Given the description of an element on the screen output the (x, y) to click on. 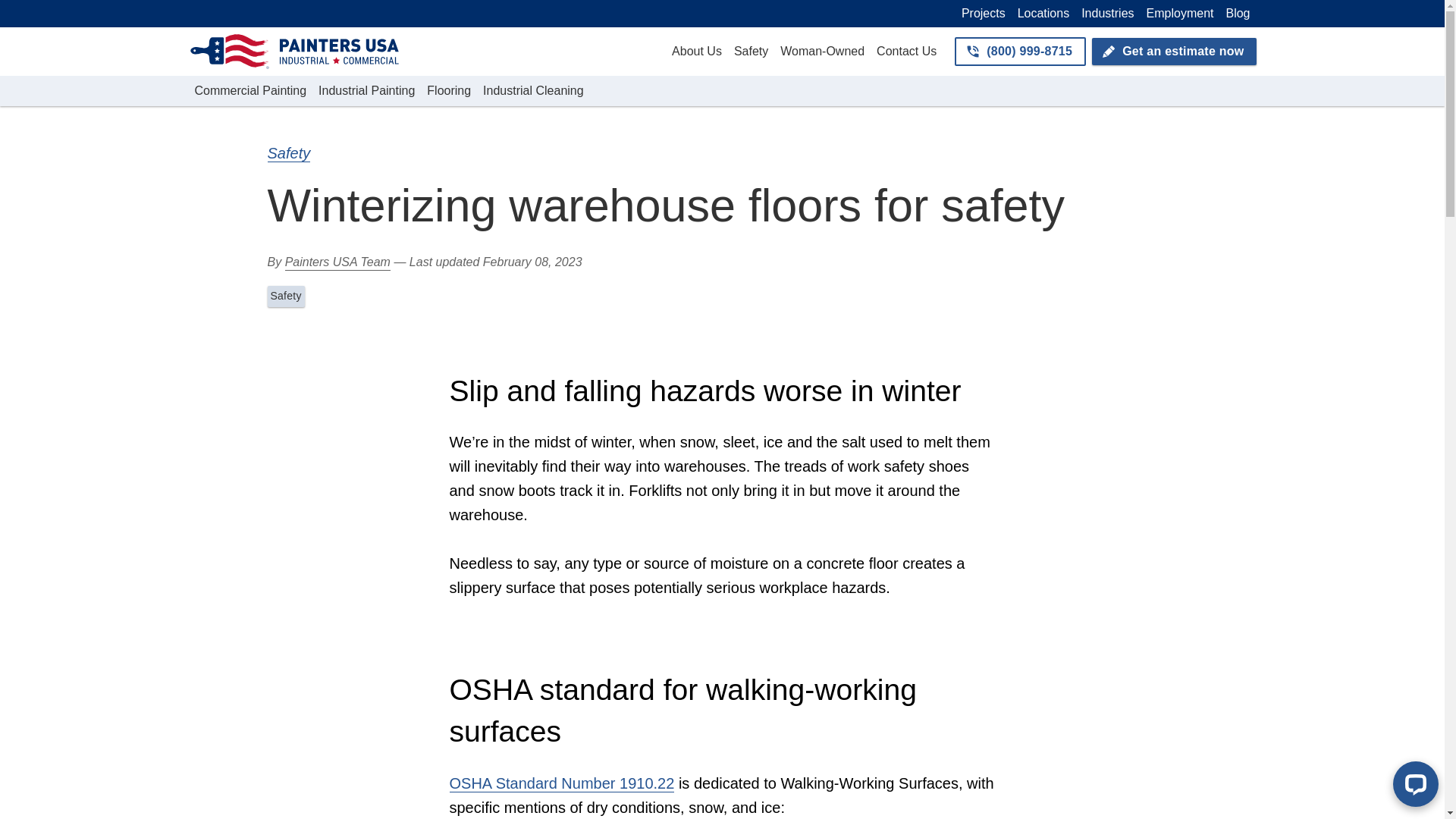
Woman-Owned (822, 51)
Safety (751, 51)
Industries (1107, 13)
About Us (696, 51)
Industrial Painting (366, 90)
Employment (1180, 13)
Flooring (448, 90)
Projects (983, 13)
Locations (1043, 13)
Get an estimate now (1173, 51)
